Given the description of an element on the screen output the (x, y) to click on. 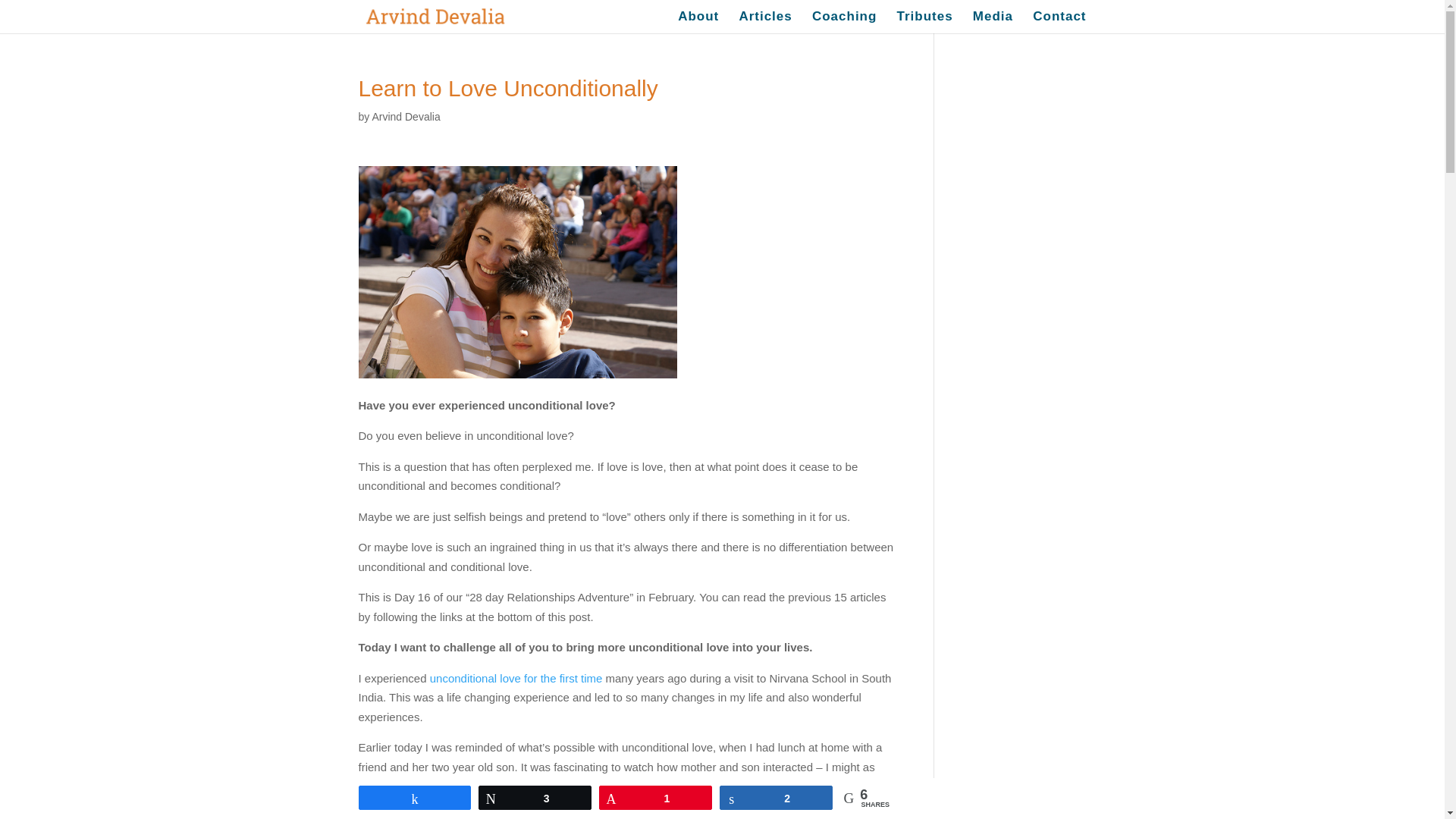
unconditional love for the first time (515, 677)
Tributes (924, 22)
Arvind Devalia (405, 116)
About (698, 22)
Contact (1059, 22)
Media (992, 22)
Articles (765, 22)
Posts by Arvind Devalia (405, 116)
Coaching (844, 22)
